Given the description of an element on the screen output the (x, y) to click on. 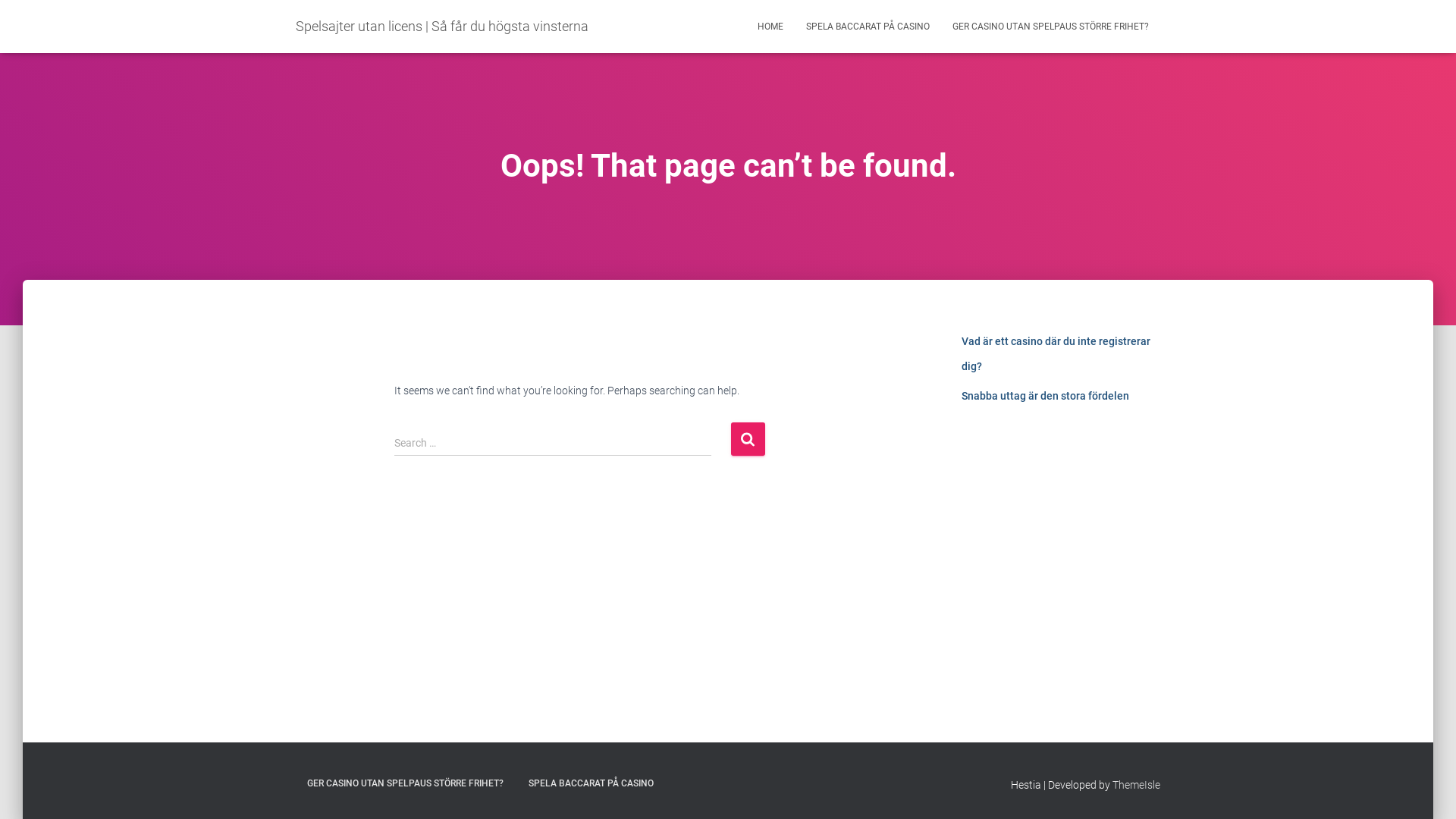
HOME Element type: text (770, 26)
ThemeIsle Element type: text (1136, 784)
Search Element type: text (748, 438)
